Given the description of an element on the screen output the (x, y) to click on. 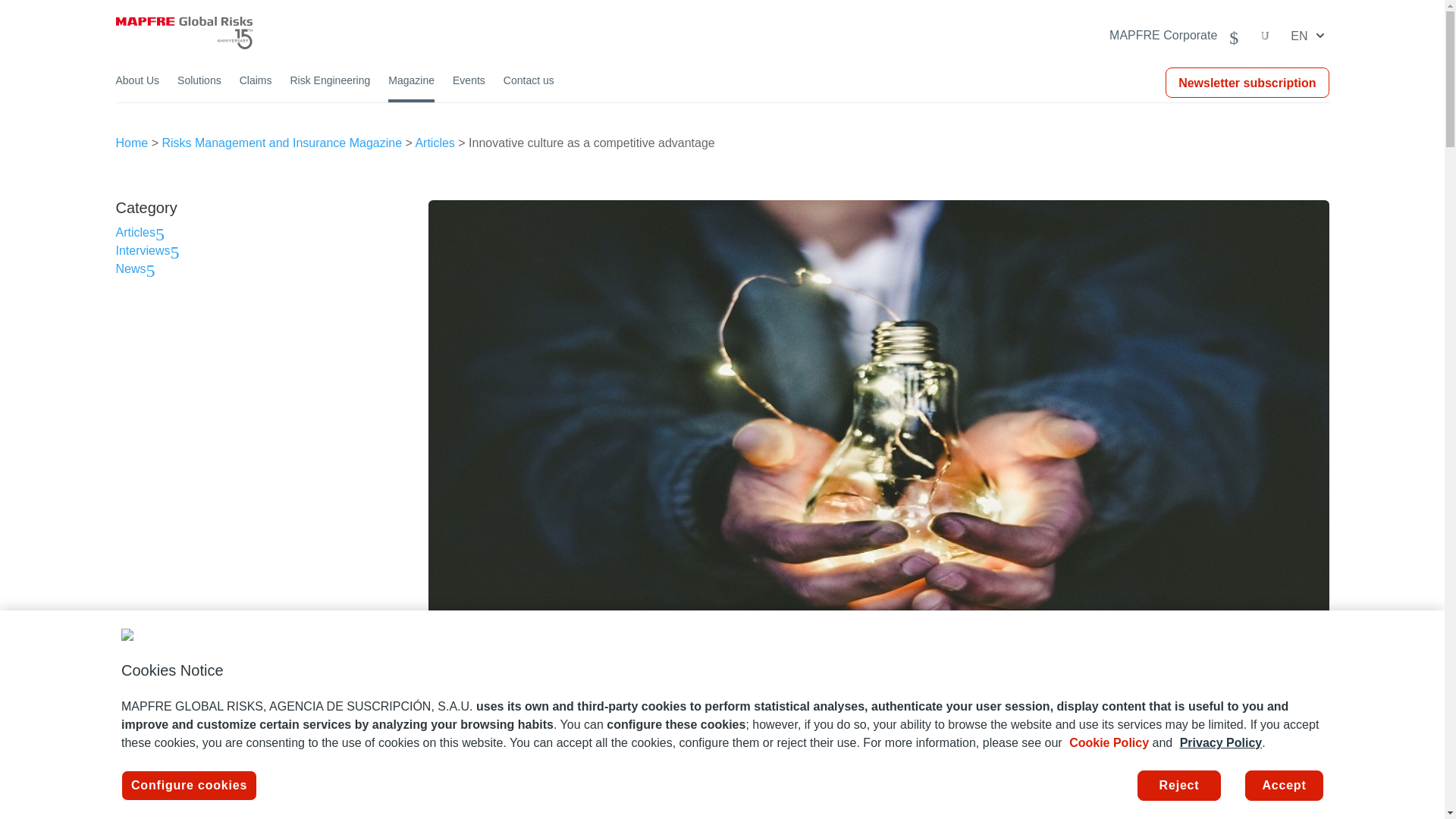
Contact us (528, 87)
Newsletter subscription (1246, 82)
Magazine (410, 87)
Articles (434, 142)
Interviews (151, 250)
EN (1308, 35)
Events (468, 87)
Articles (144, 232)
Risks Management and Insurance Magazine (281, 142)
